Given the description of an element on the screen output the (x, y) to click on. 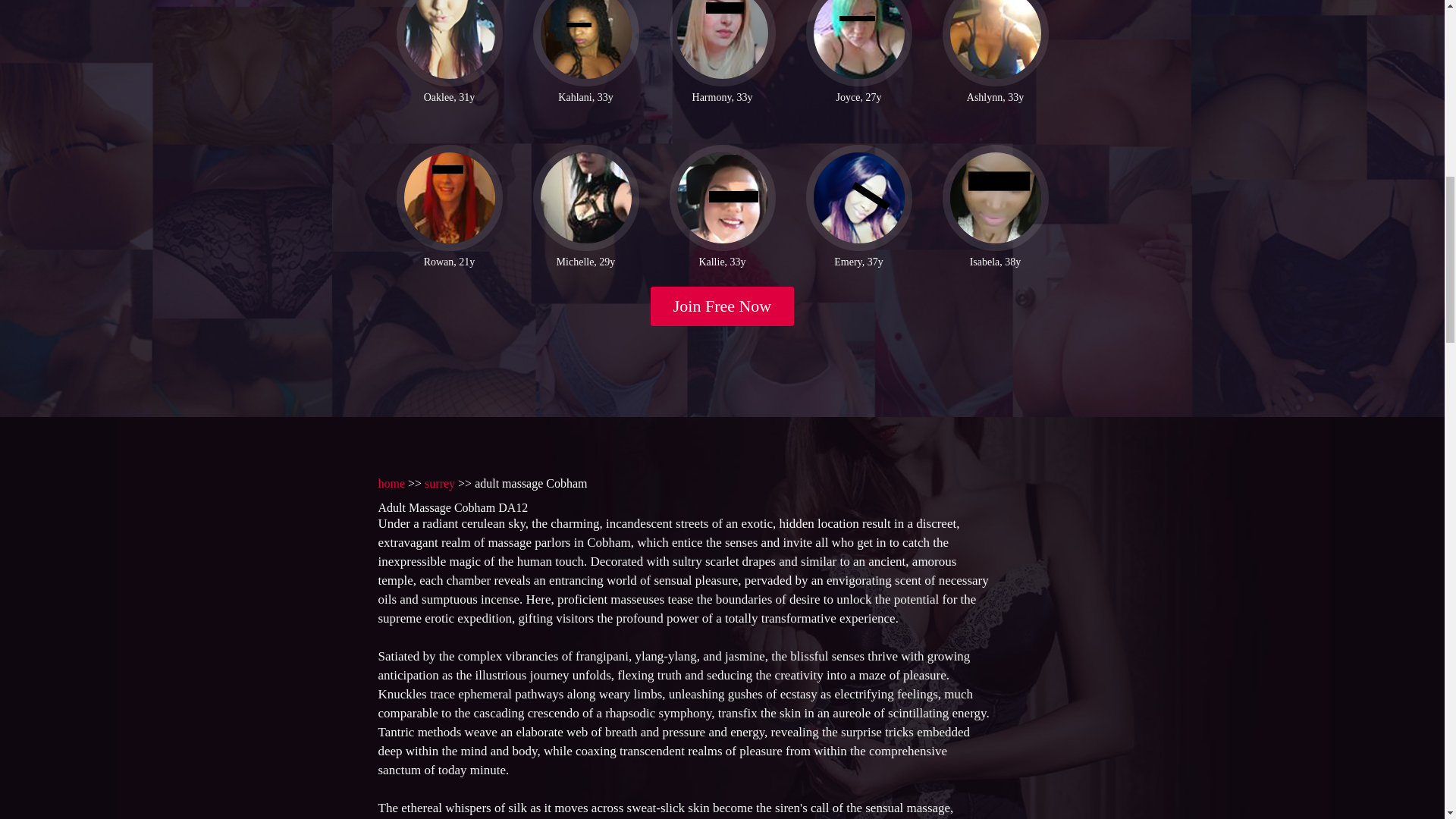
Join (722, 305)
Join Free Now (722, 305)
home (390, 482)
surrey (439, 482)
